Given the description of an element on the screen output the (x, y) to click on. 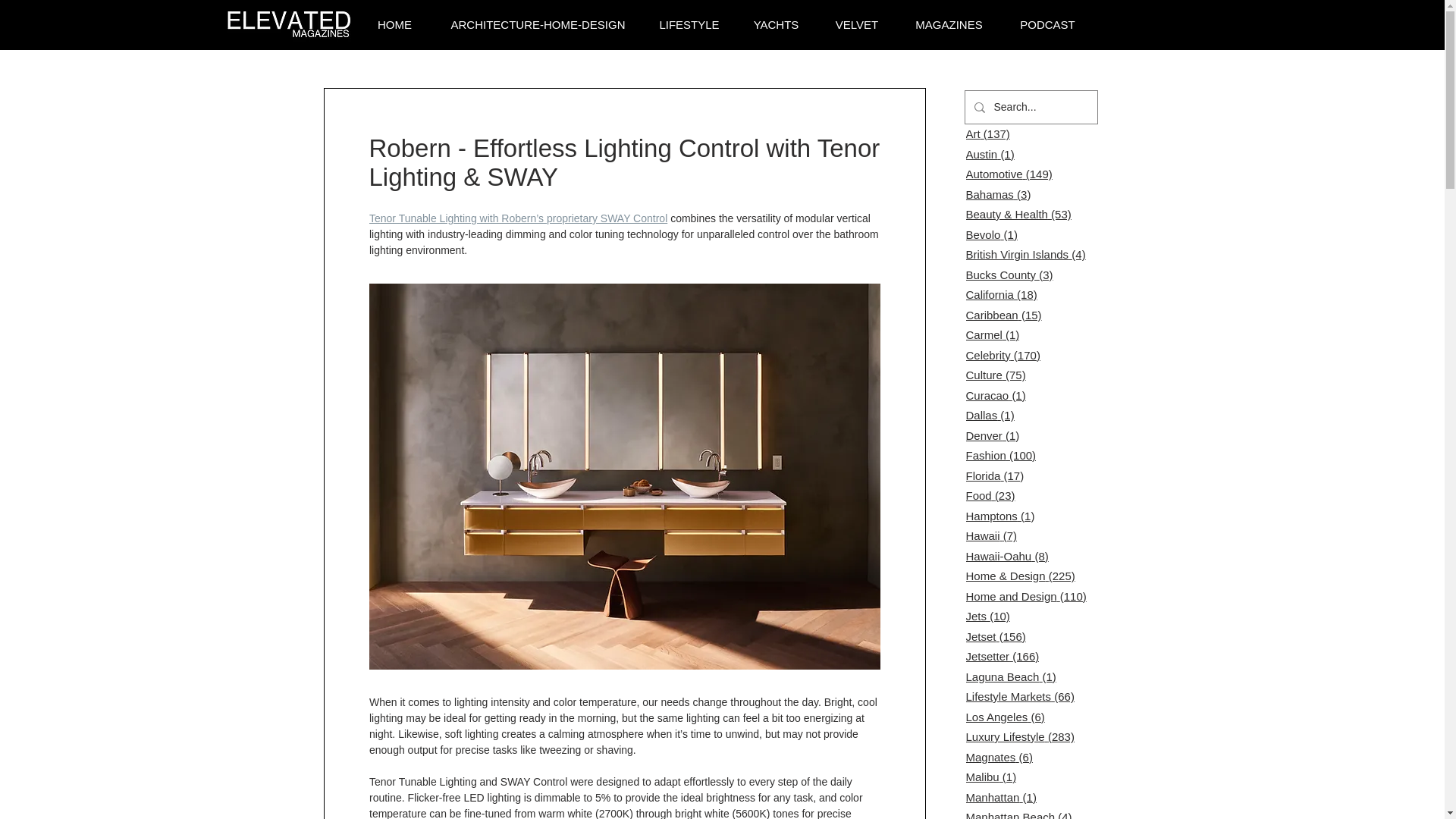
YACHTS (775, 25)
VELVET (856, 25)
HOME (394, 25)
MAGAZINES (948, 25)
PODCAST (1047, 25)
